Given the description of an element on the screen output the (x, y) to click on. 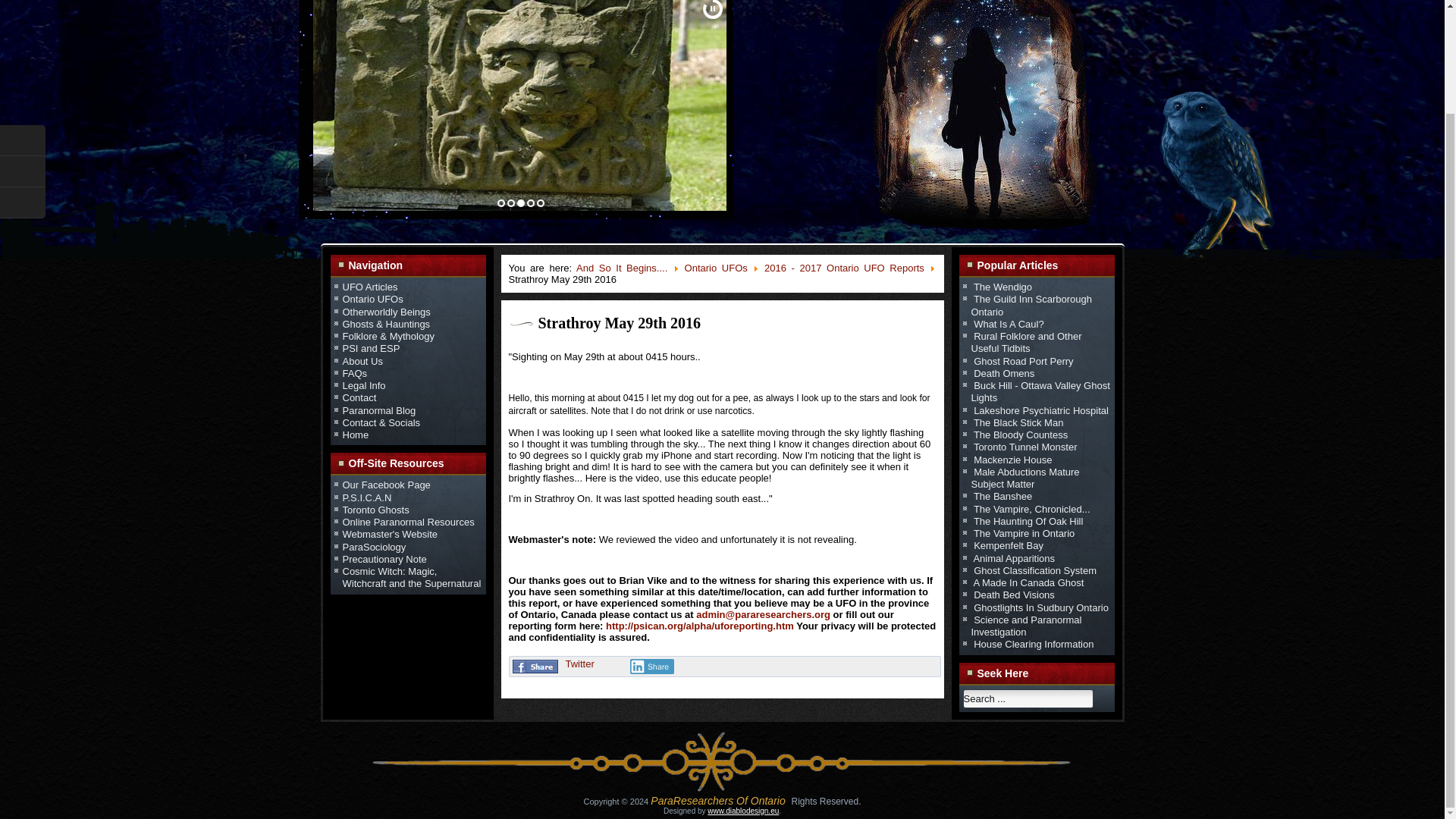
Otherworldly Beings (386, 310)
ParaSociology (374, 546)
Legal Info (363, 385)
Search ... (1027, 698)
Our Facebook Page (386, 484)
UFO Articles (369, 286)
And So It Begins.... (621, 267)
Contact (359, 397)
About Us (362, 360)
Webmaster's Website (390, 533)
P.S.I.C.A.N (366, 497)
Cosmic Witch: Magic, Witchcraft and the Supernatural (411, 576)
Toronto Ghosts (375, 509)
PSI and ESP (371, 348)
Precautionary Note (384, 559)
